Given the description of an element on the screen output the (x, y) to click on. 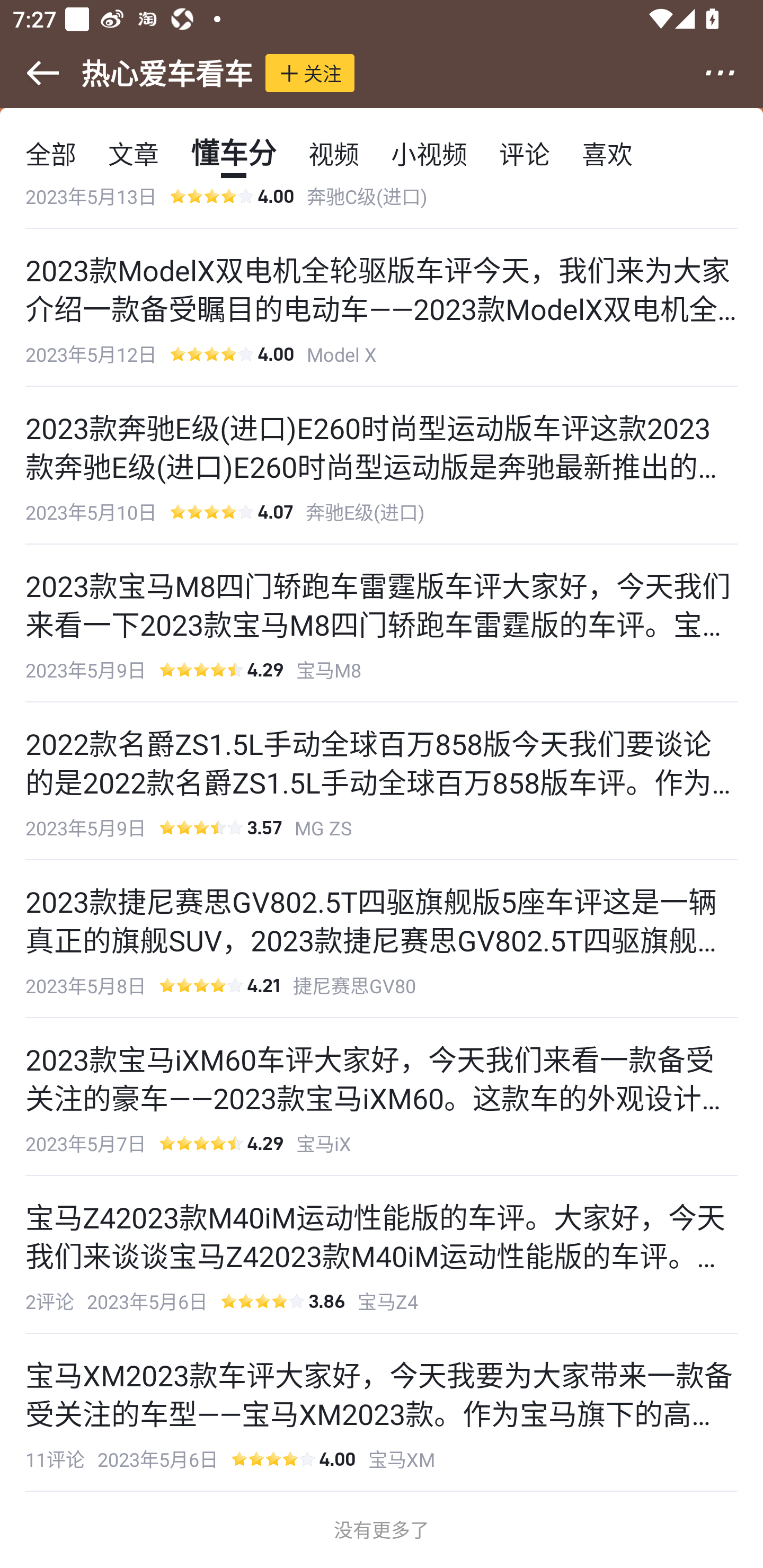
 (30, 72)
 (732, 72)
 关注 (309, 72)
全部 (50, 152)
文章 (133, 152)
懂车分 (233, 152)
视频 (333, 152)
小视频 (428, 152)
评论 (524, 152)
喜欢 (606, 152)
